Given the description of an element on the screen output the (x, y) to click on. 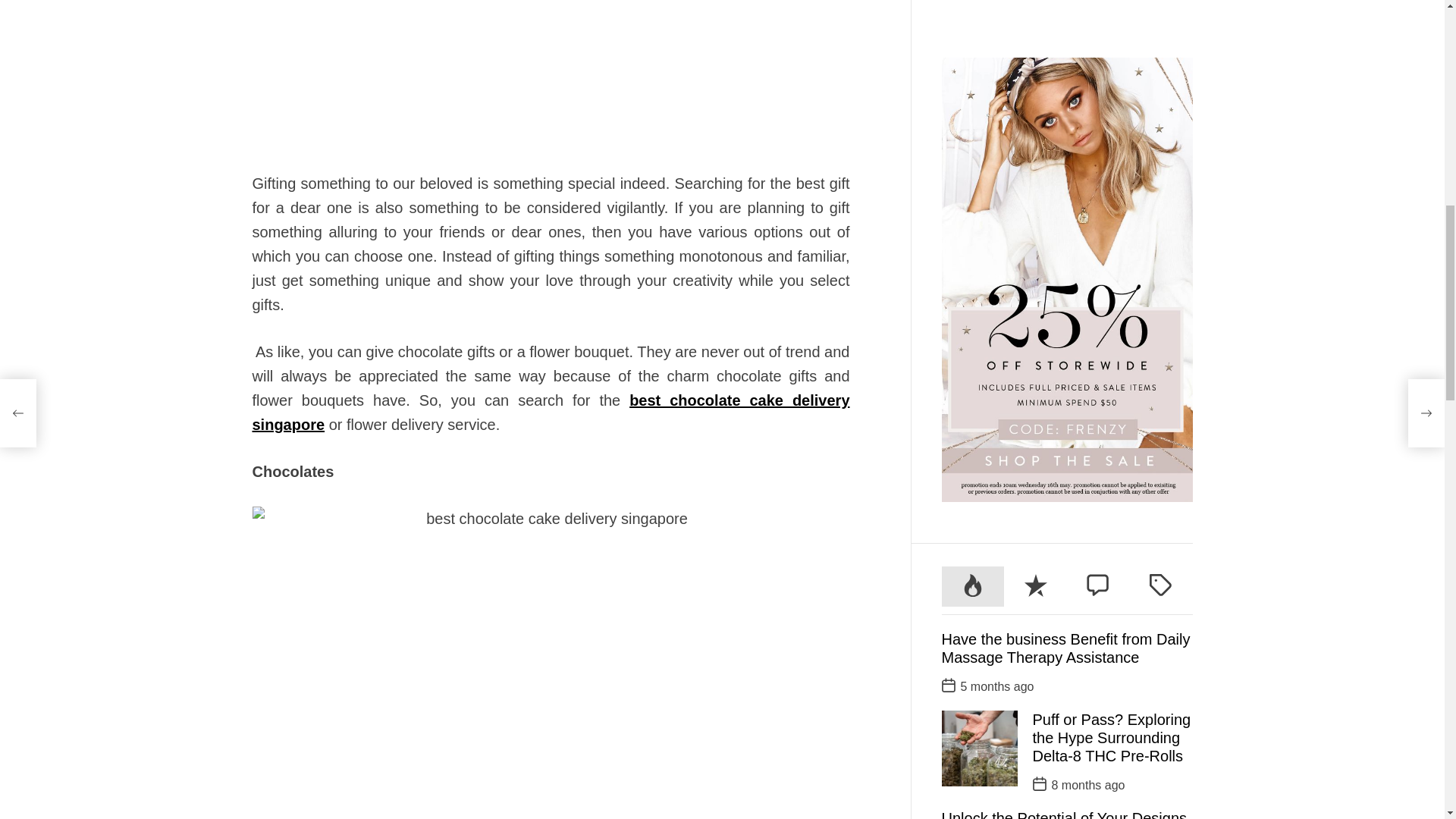
best chocolate cake delivery singapore (549, 412)
Comment (1098, 65)
Tagged (1160, 65)
Popular (973, 65)
Recent (1035, 65)
